Given the description of an element on the screen output the (x, y) to click on. 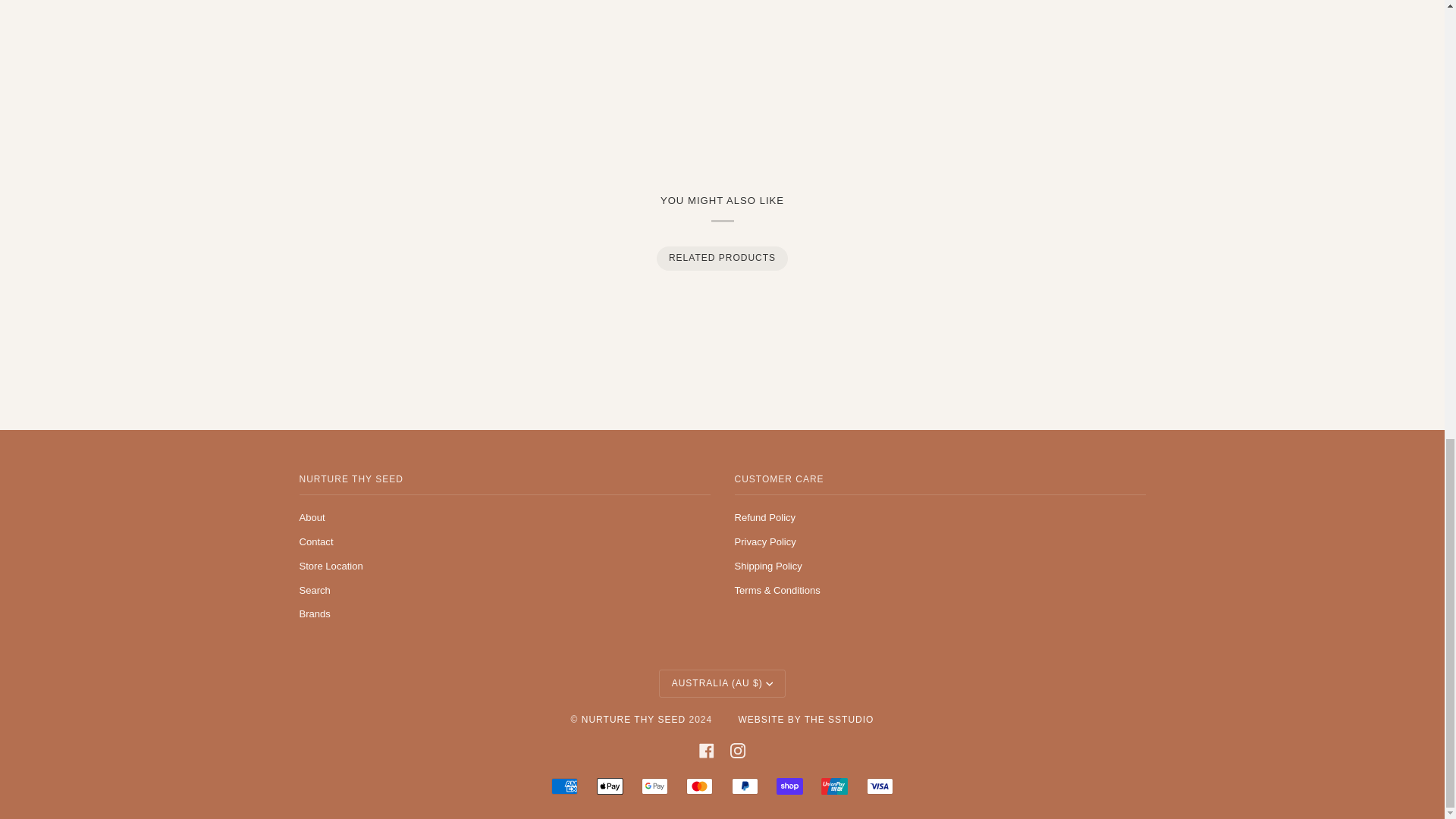
UNION PAY (834, 786)
PAYPAL (745, 786)
AMERICAN EXPRESS (564, 786)
MASTERCARD (699, 786)
VISA (879, 786)
RELATED PRODUCTS (721, 258)
Instagram (737, 750)
APPLE PAY (609, 786)
GOOGLE PAY (655, 786)
SHOP PAY (789, 786)
